Given the description of an element on the screen output the (x, y) to click on. 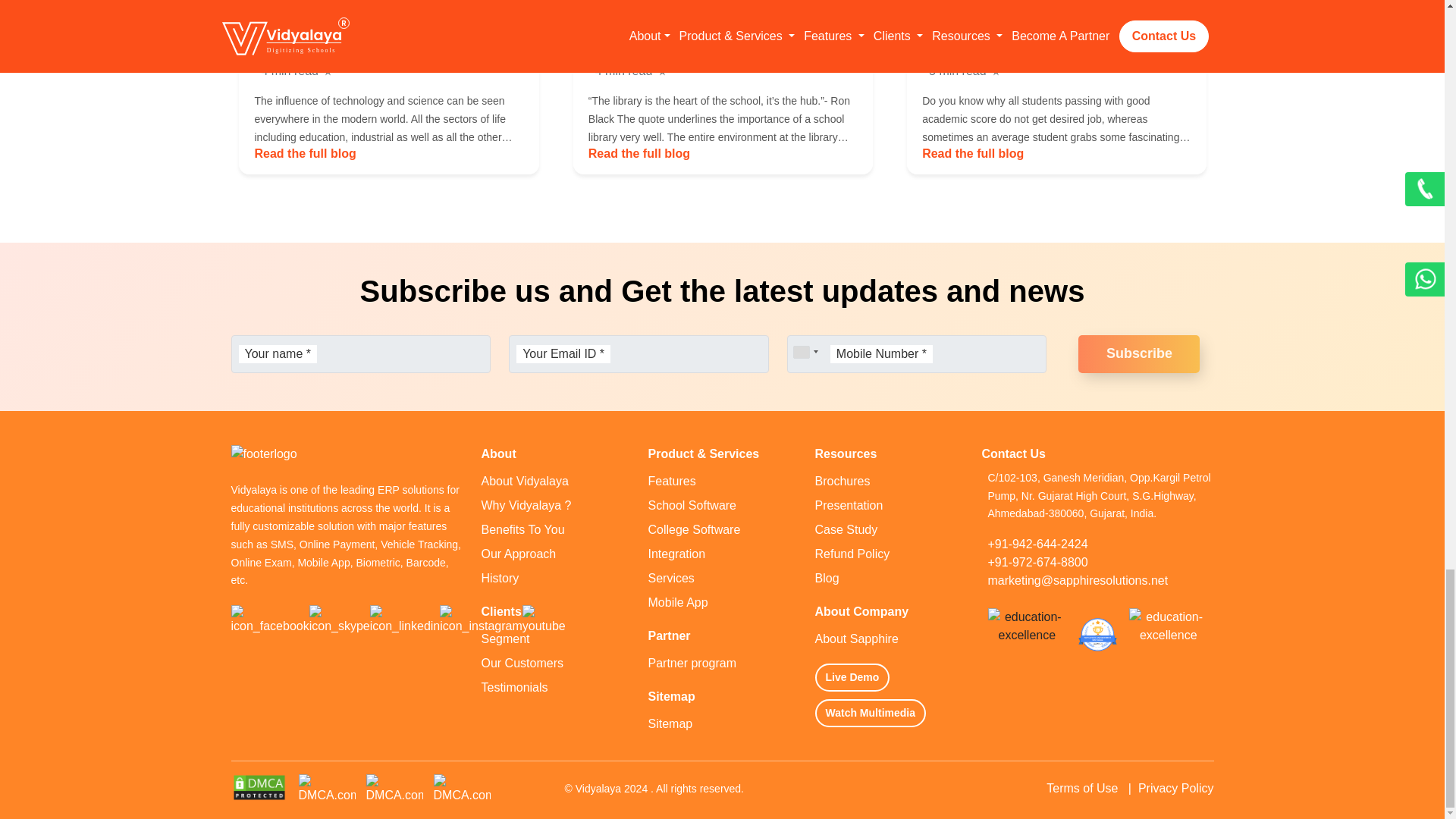
DMCA.com Protection Status (461, 786)
DMCA.com Protection Status (393, 786)
DMCA.com Protection Status (326, 786)
DMCA.com Protection Status (258, 786)
